Given the description of an element on the screen output the (x, y) to click on. 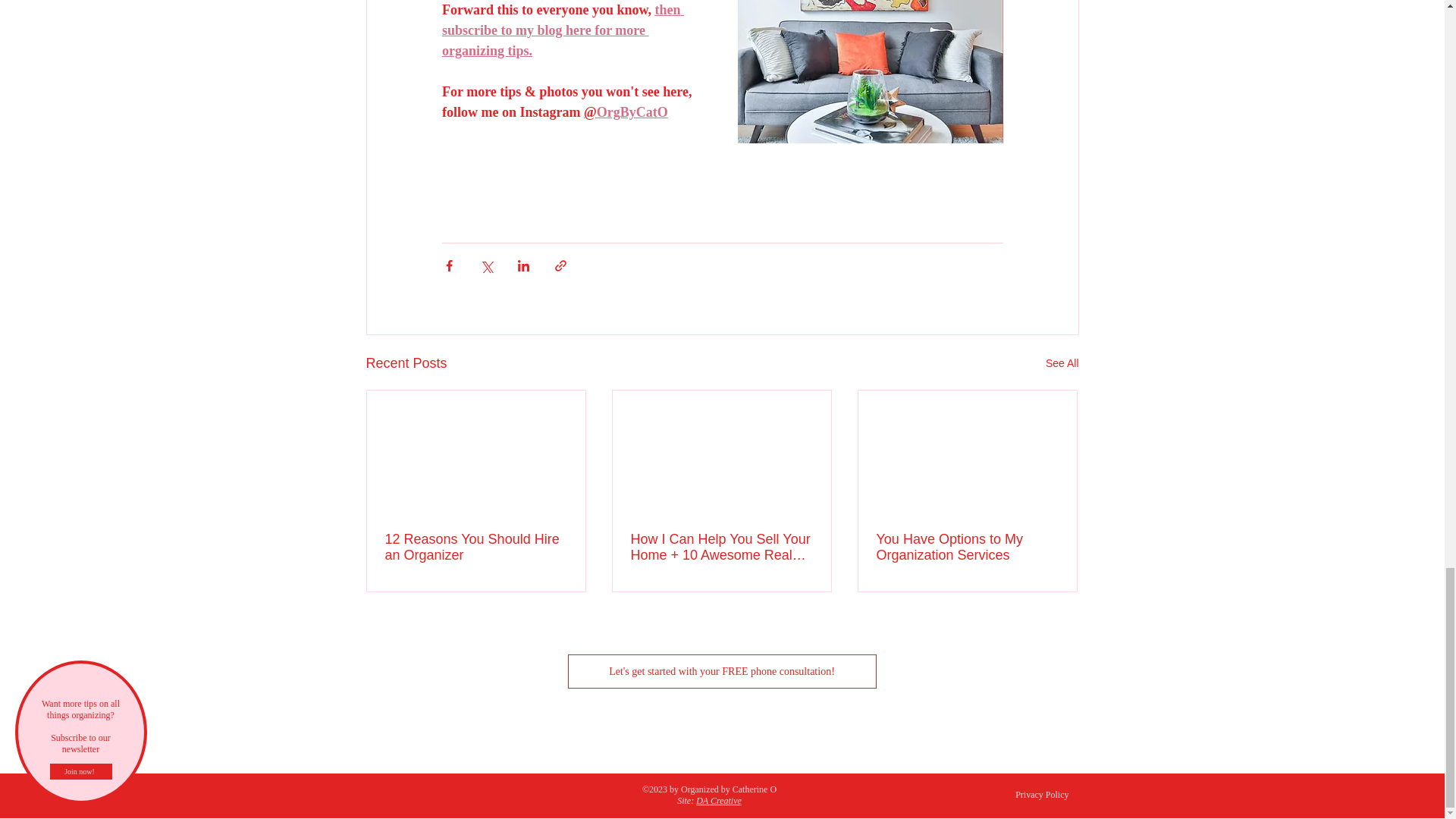
See All (1061, 363)
12 Reasons You Should Hire an Organizer (476, 547)
Privacy Policy (1041, 794)
DA Creative (718, 800)
Let's get started with your FREE phone consultation! (721, 671)
OrgByCatO (630, 111)
then subscribe to my blog here for more organizing tips. (561, 30)
You Have Options to My Organization Services (967, 547)
